Given the description of an element on the screen output the (x, y) to click on. 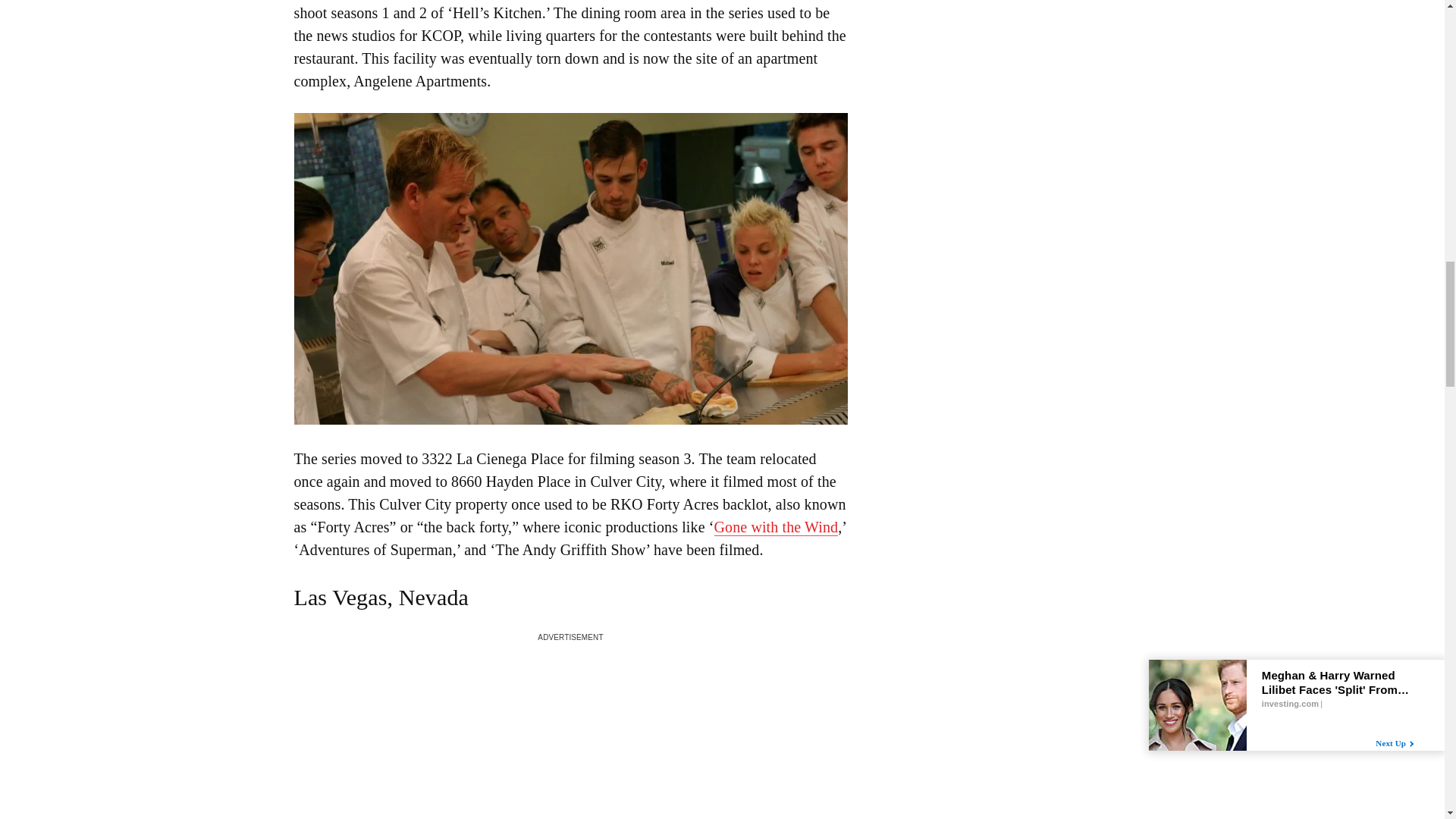
Gone with the Wind (776, 527)
